Given the description of an element on the screen output the (x, y) to click on. 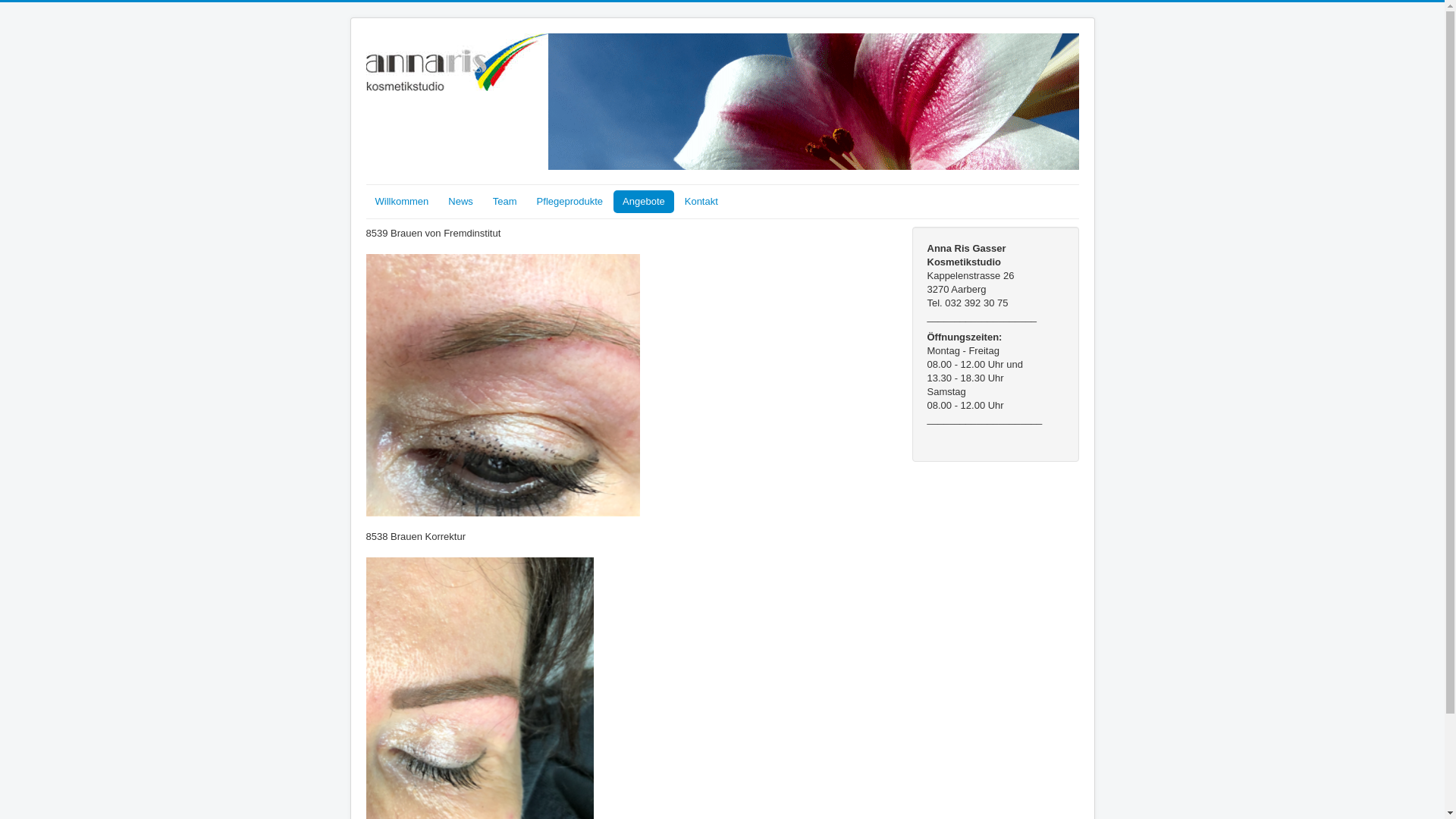
News Element type: text (460, 201)
Kontakt Element type: text (701, 201)
Angebote Element type: text (643, 201)
Willkommen Element type: text (401, 201)
Team Element type: text (504, 201)
Pflegeprodukte Element type: text (569, 201)
